Given the description of an element on the screen output the (x, y) to click on. 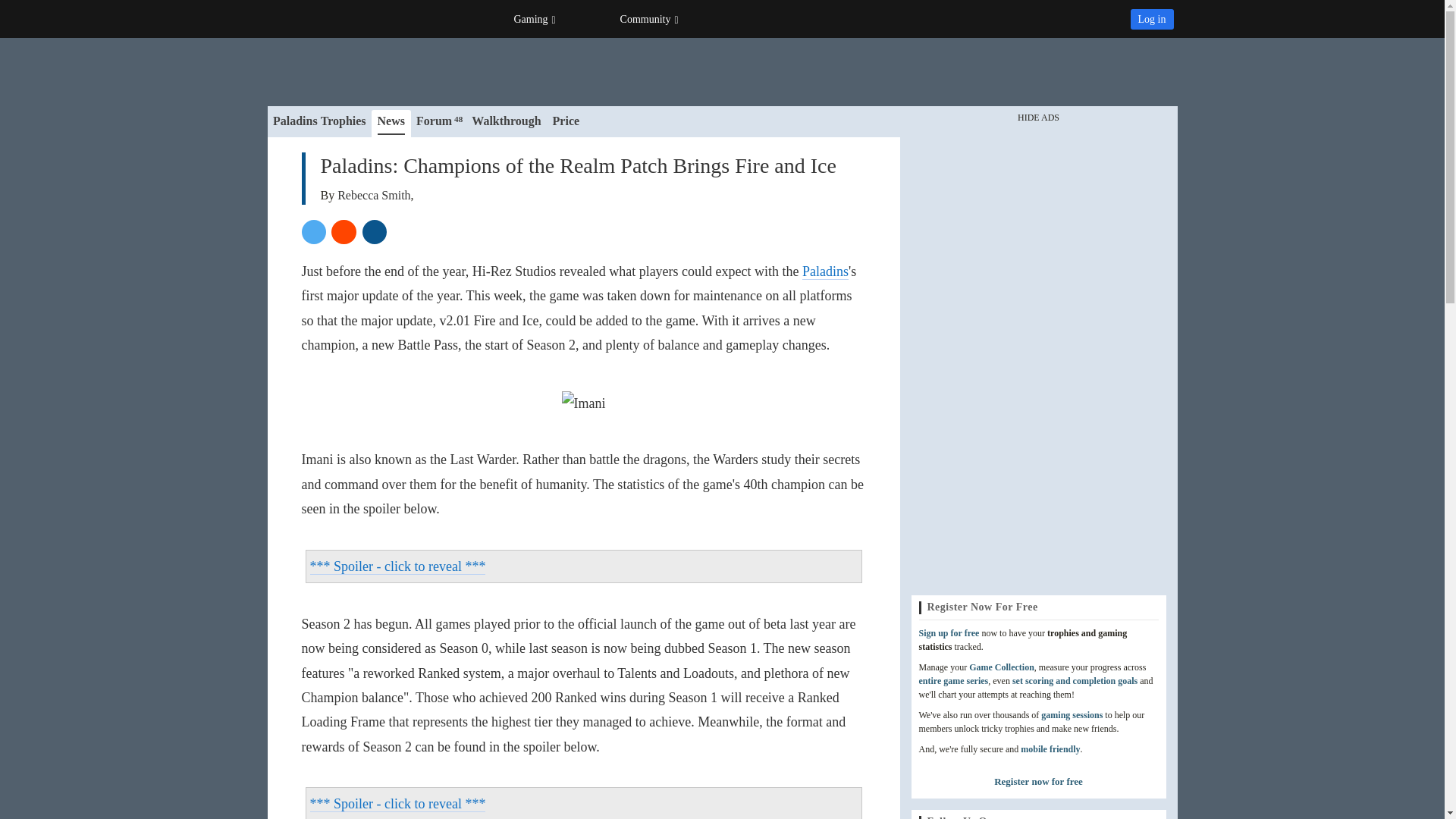
Share via Twitter (313, 232)
Paladins Trophies (319, 123)
Paladins Forum (438, 123)
TrueTrophies (352, 18)
Share via Reddit (343, 232)
View comments (374, 232)
Paladins price tracker For PlayStation 4 (566, 123)
